Given the description of an element on the screen output the (x, y) to click on. 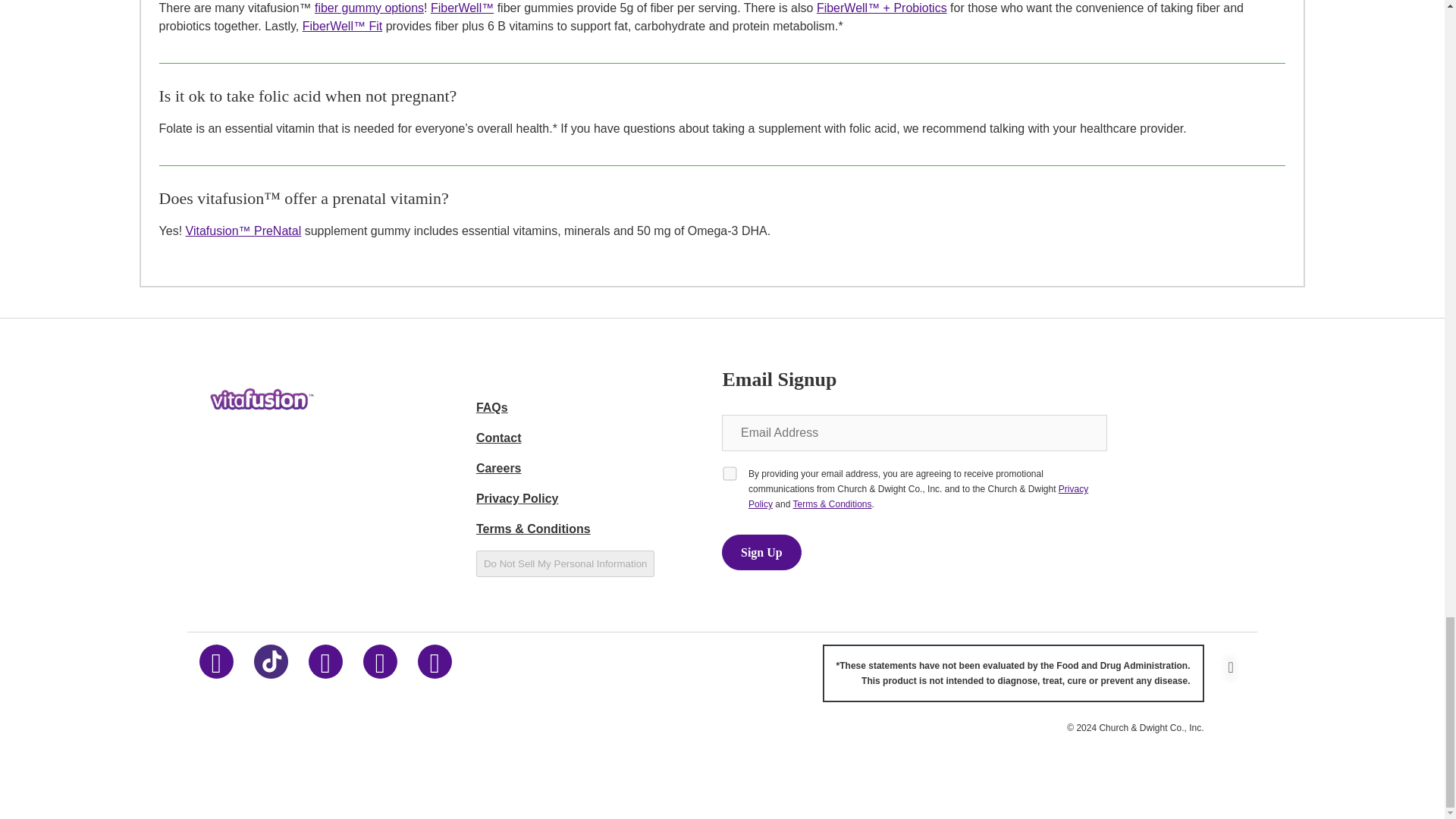
Go to Terms (533, 528)
Go to Contact Us (498, 437)
Go to About Us (498, 468)
vitafusion email signup form (914, 505)
Go to Privacy (517, 498)
